Given the description of an element on the screen output the (x, y) to click on. 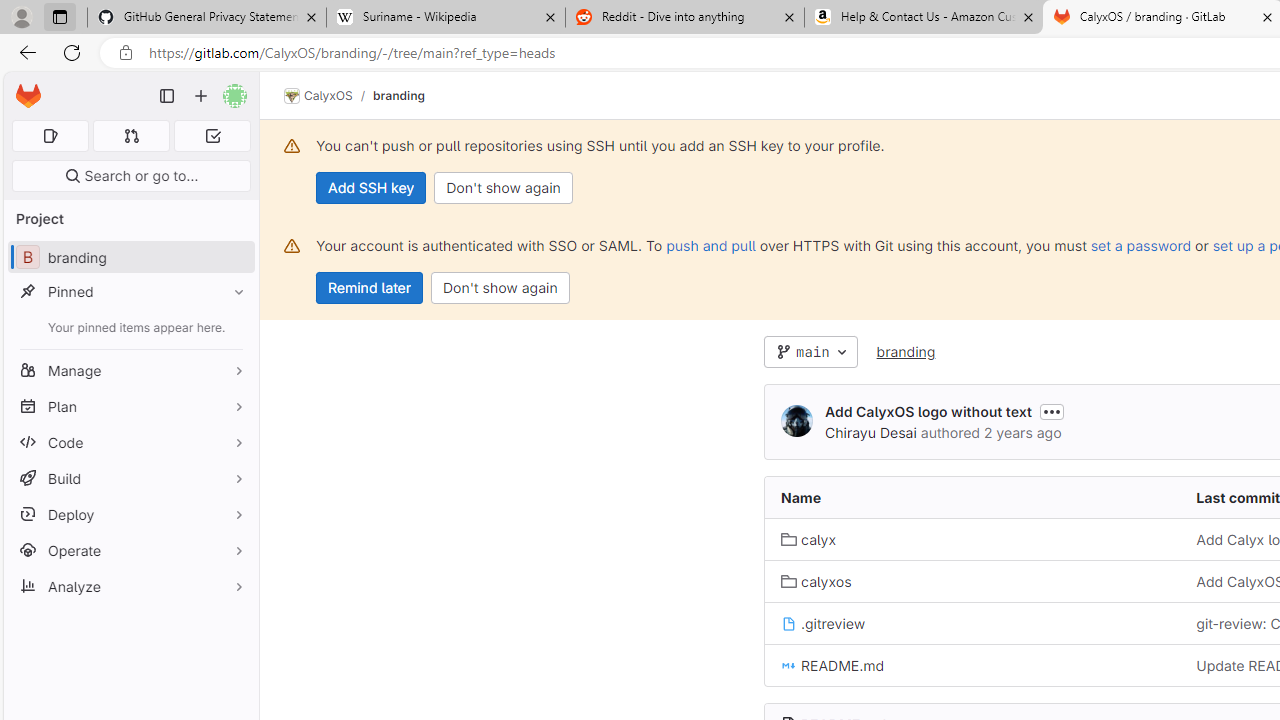
Code (130, 442)
Analyze (130, 586)
set a password (1140, 245)
calyx (973, 538)
Analyze (130, 586)
Assigned issues 0 (50, 136)
CalyxOS (318, 96)
Toggle commit description (1051, 411)
